Given the description of an element on the screen output the (x, y) to click on. 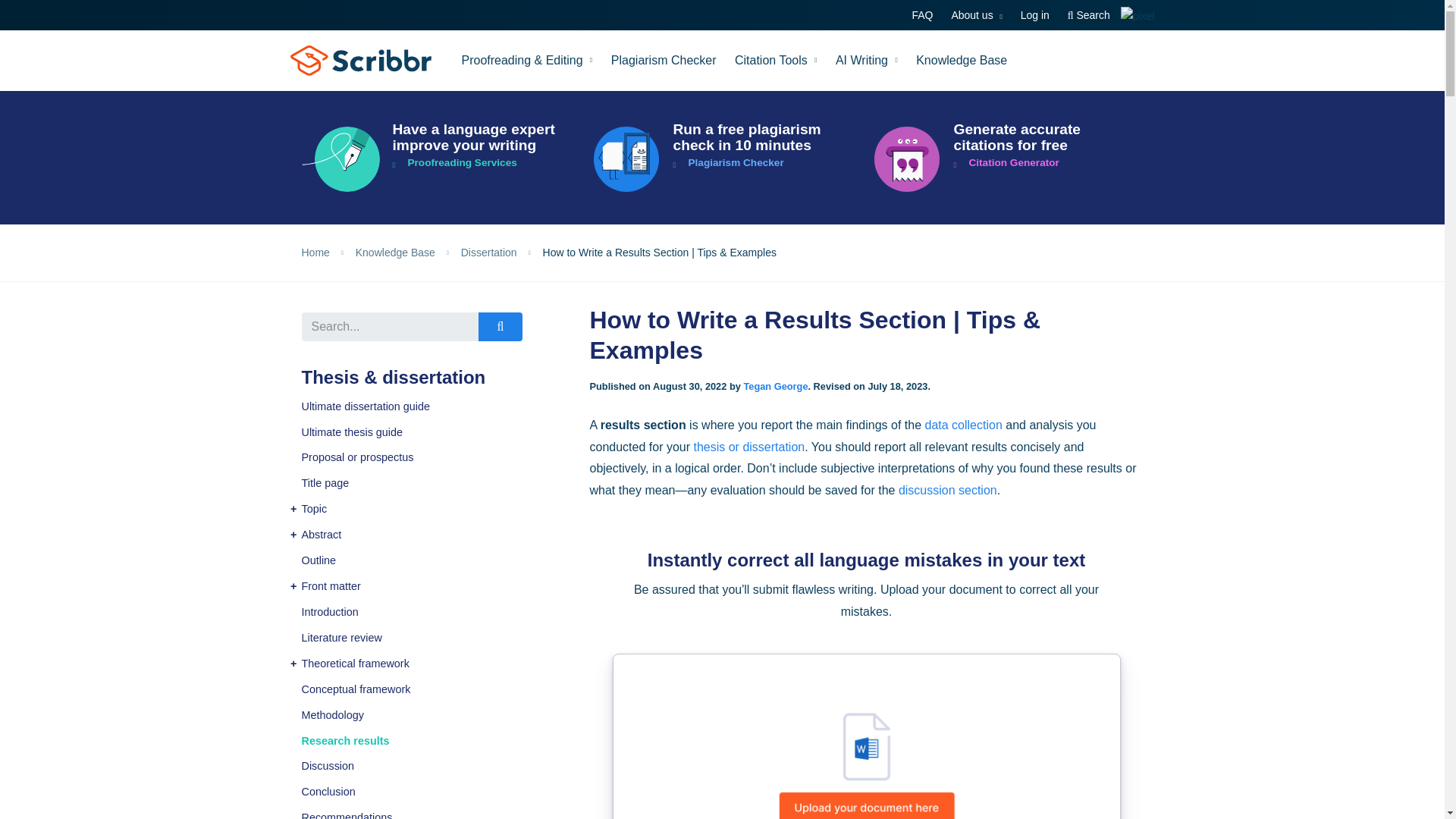
Log in (1034, 15)
How to Write a Dissertation or Thesis Proposal (434, 457)
Search (1088, 15)
About us (976, 15)
Plagiarism Checker (663, 60)
Do the check (722, 159)
FAQ (921, 15)
Citation Tools (775, 60)
Citation Generator (1002, 159)
